Given the description of an element on the screen output the (x, y) to click on. 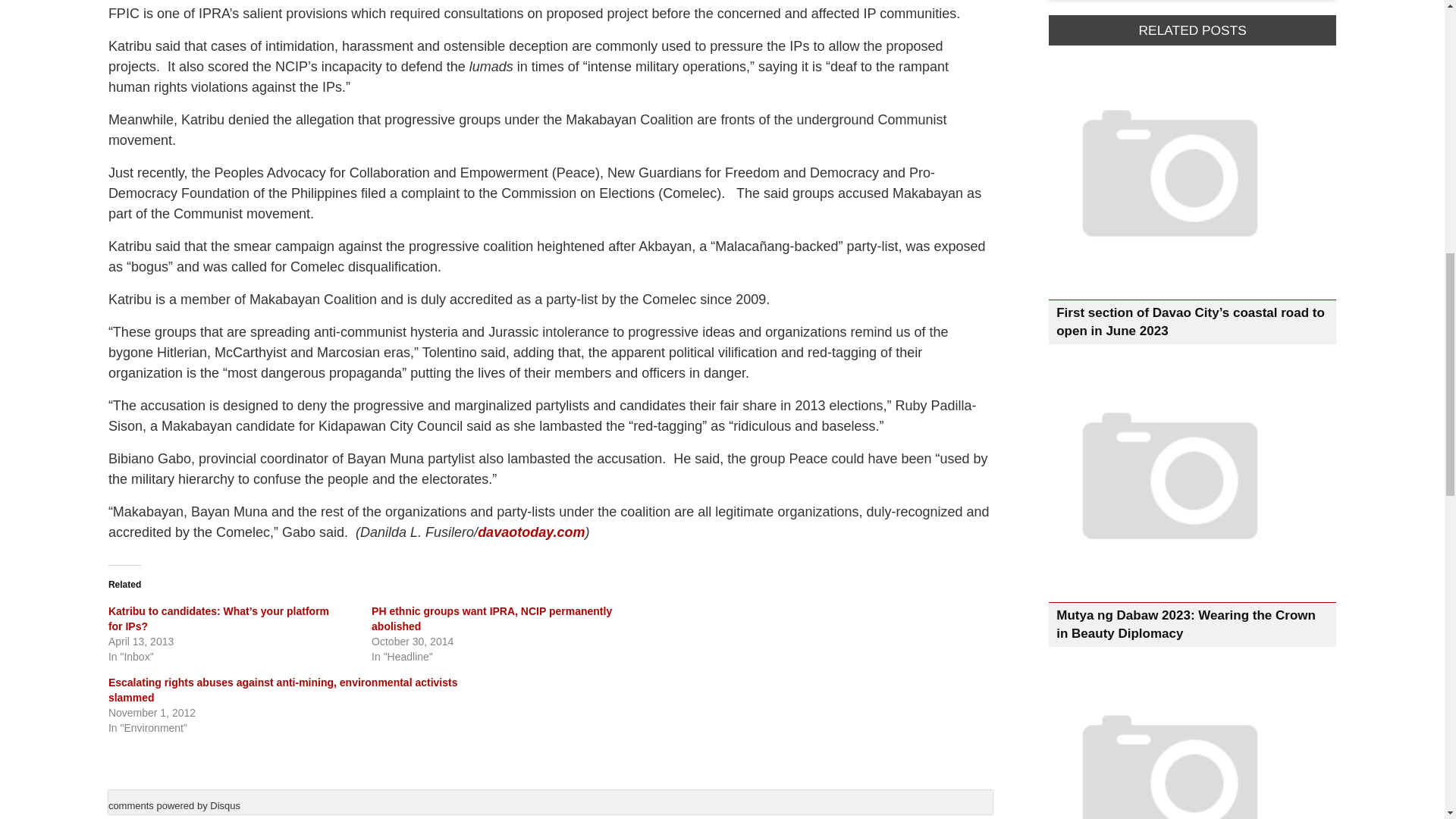
PH ethnic groups want IPRA, NCIP permanently abolished (491, 618)
comments powered by Disqus (173, 805)
davaotoday.com (531, 532)
PH ethnic groups want IPRA, NCIP permanently abolished (491, 618)
